Given the description of an element on the screen output the (x, y) to click on. 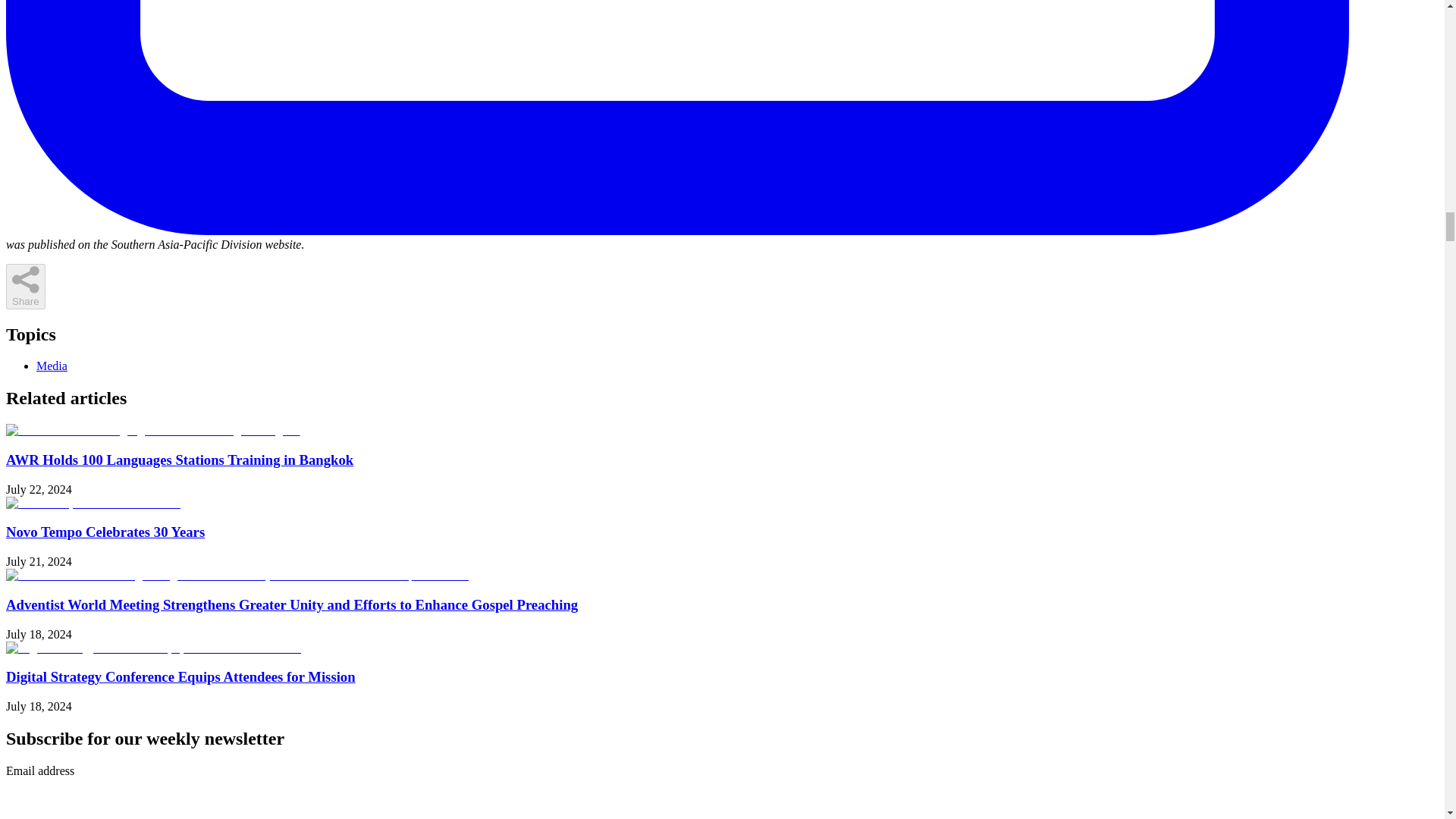
Media (51, 365)
Novo Tempo Celebrates 30 Years (105, 531)
AWR Holds 100 Languages Stations Training in Bangkok (179, 459)
Digital Strategy Conference Equips Attendees for Mission (180, 676)
